Given the description of an element on the screen output the (x, y) to click on. 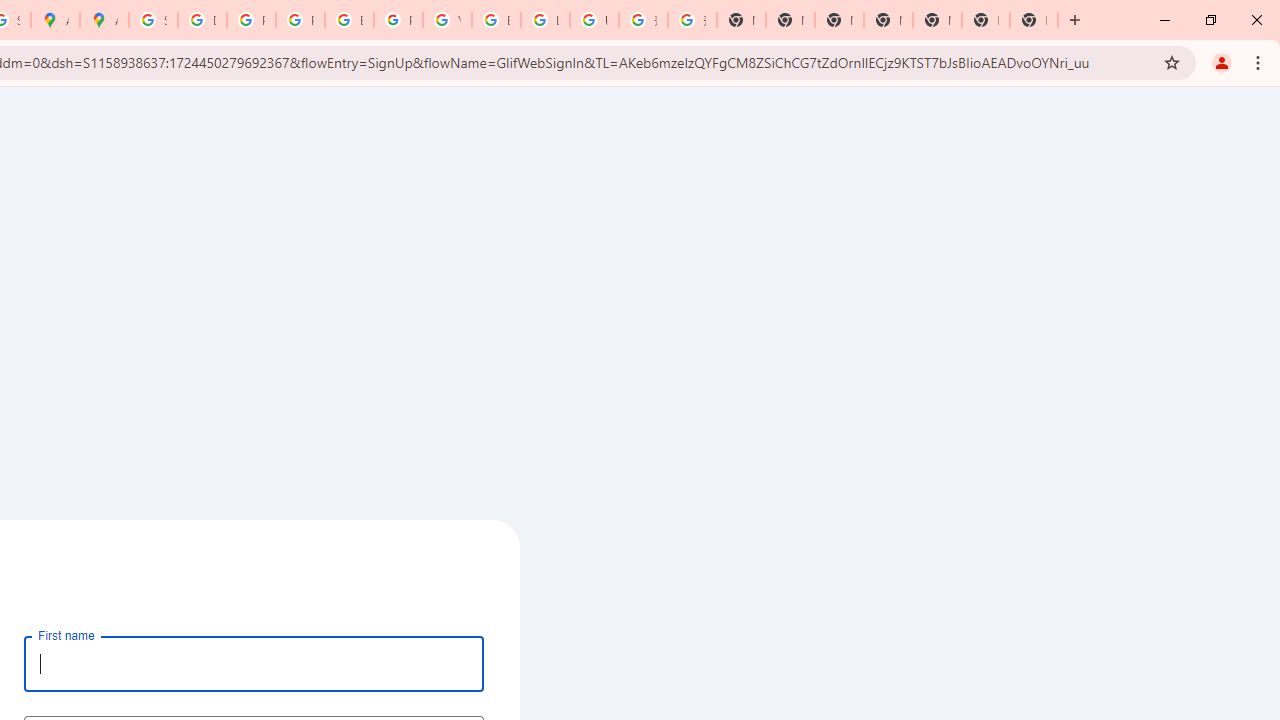
New Tab (1033, 20)
Privacy Help Center - Policies Help (251, 20)
YouTube (447, 20)
New Tab (888, 20)
First name (253, 663)
